Given the description of an element on the screen output the (x, y) to click on. 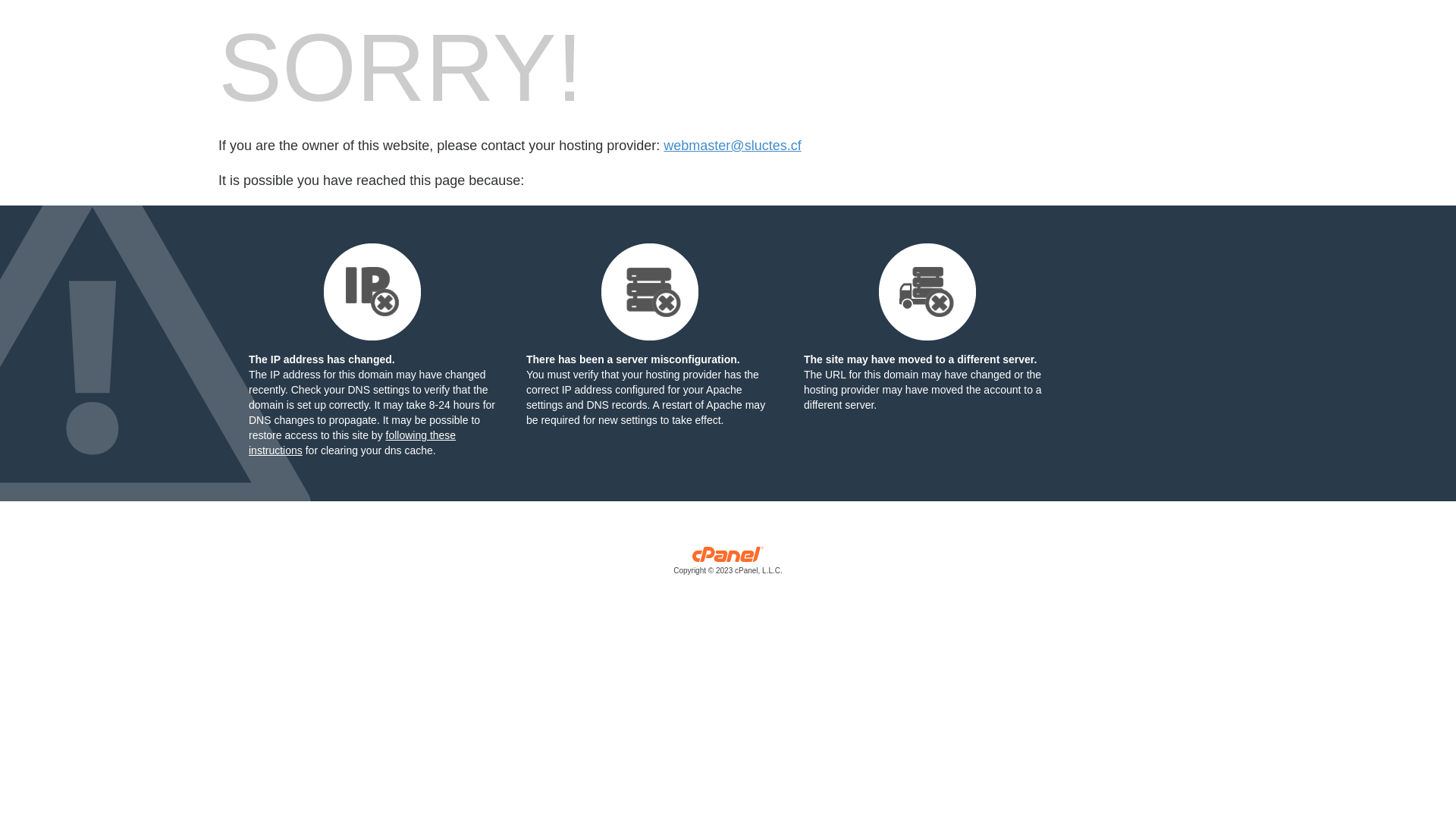
following these instructions Element type: text (351, 442)
webmaster@sluctes.cf Element type: text (731, 145)
